Given the description of an element on the screen output the (x, y) to click on. 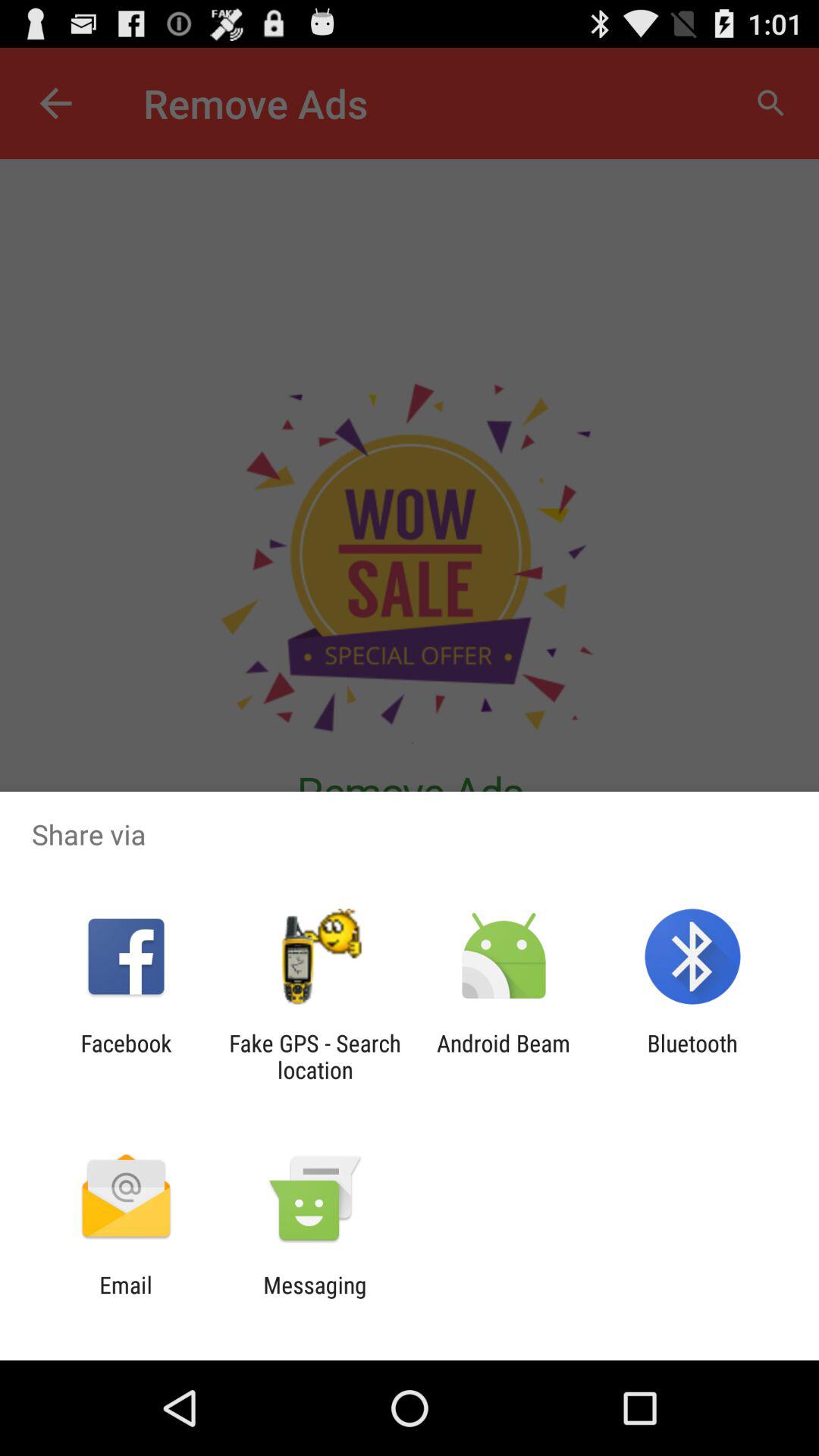
turn off the fake gps search (314, 1056)
